Given the description of an element on the screen output the (x, y) to click on. 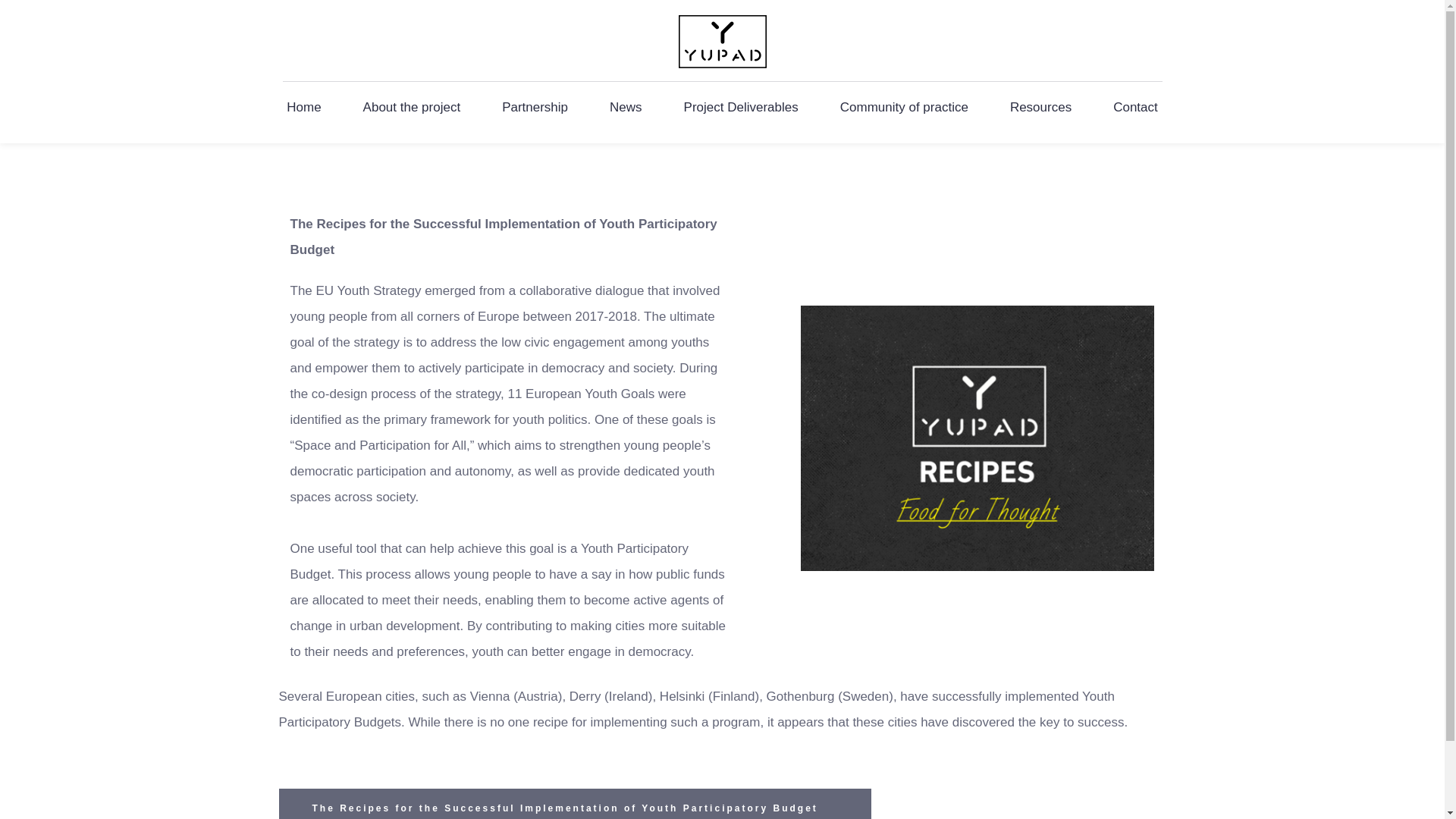
Community of practice (903, 107)
Contact (1135, 107)
Partnership (534, 107)
About the project (411, 107)
Resources (1040, 107)
News (625, 107)
Project Deliverables (740, 107)
Home (303, 107)
